Given the description of an element on the screen output the (x, y) to click on. 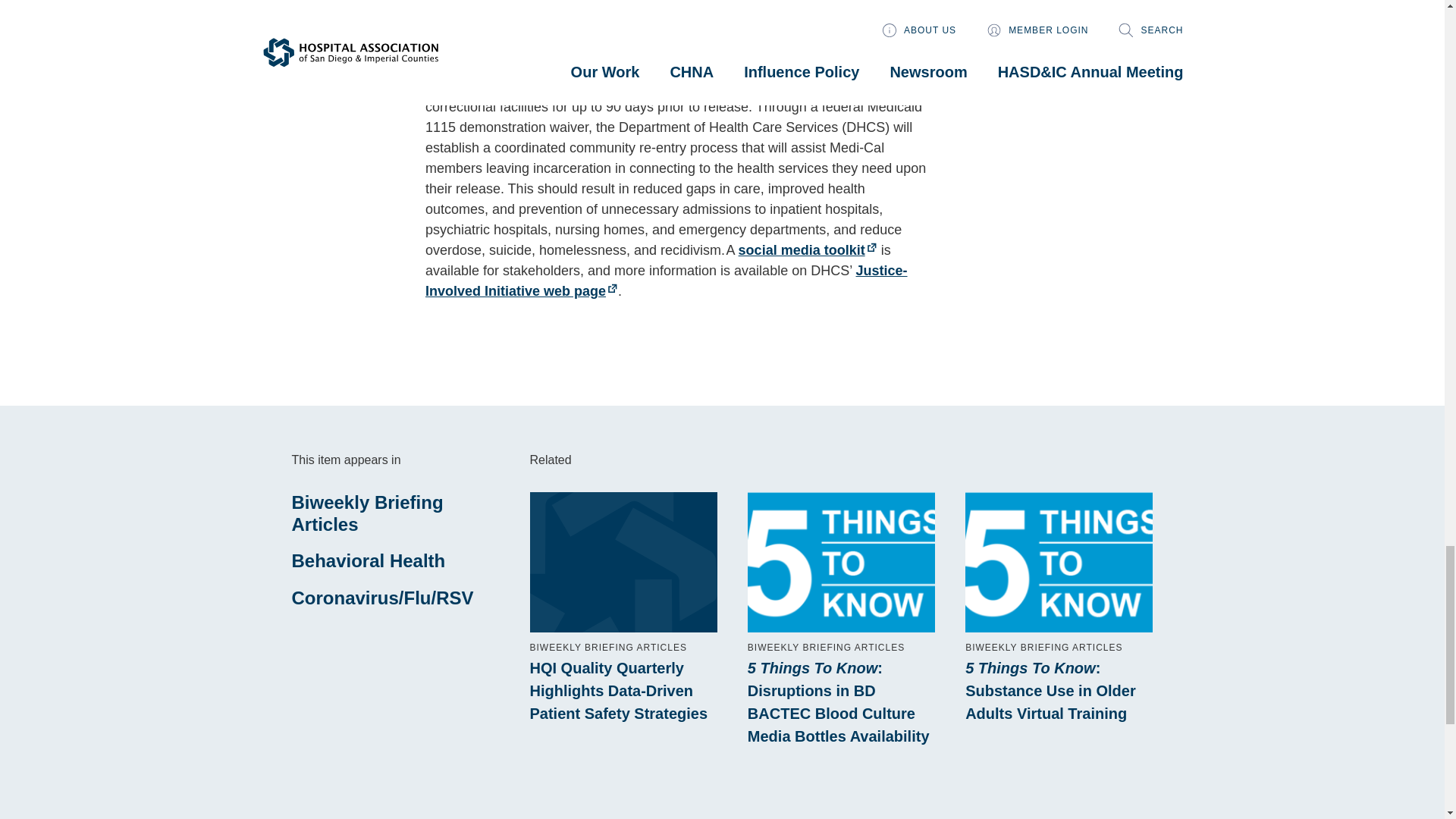
Behavioral Health (368, 560)
approval (745, 65)
Justice-Involved Initiative web page (666, 280)
notified (777, 45)
social media toolkit (807, 249)
Biweekly Briefing Articles (366, 513)
